Given the description of an element on the screen output the (x, y) to click on. 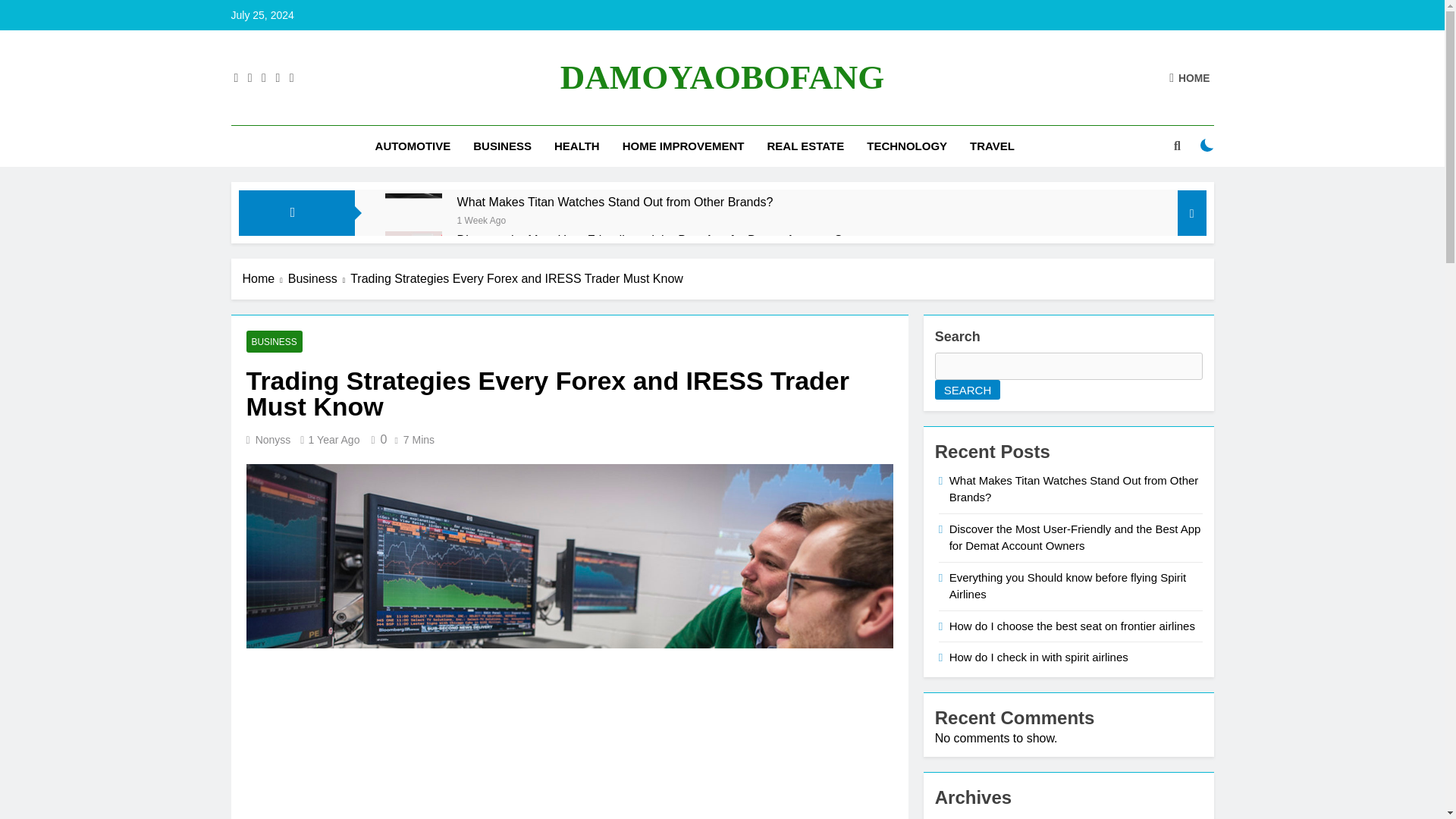
on (1206, 145)
What Makes Titan Watches Stand Out from Other Brands? (413, 221)
HOME (1189, 77)
HEALTH (577, 146)
What Makes Titan Watches Stand Out from Other Brands? (615, 201)
REAL ESTATE (805, 146)
TECHNOLOGY (907, 146)
Business (319, 279)
HOME IMPROVEMENT (683, 146)
TRAVEL (992, 146)
1 Week Ago (481, 219)
AUTOMOTIVE (413, 146)
